Given the description of an element on the screen output the (x, y) to click on. 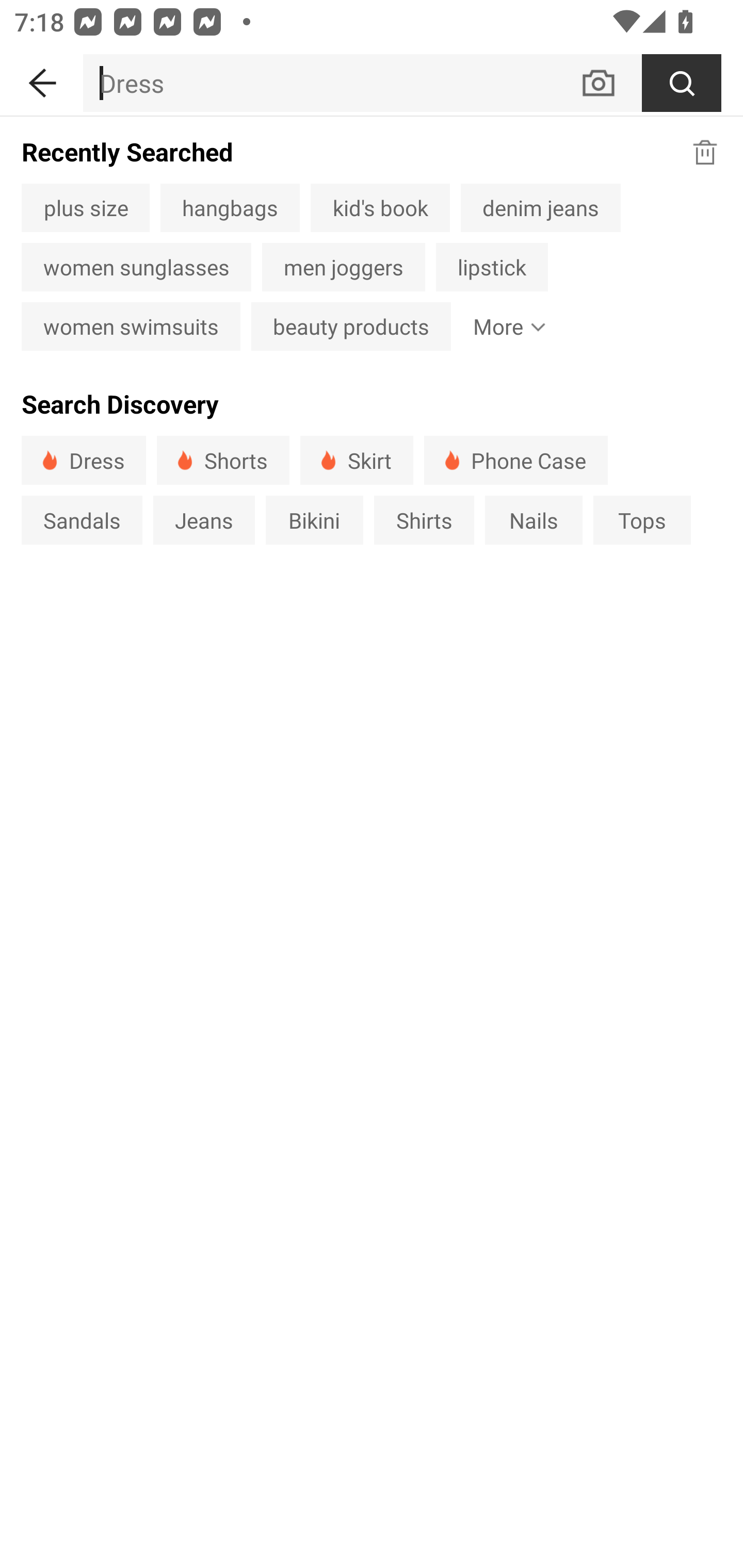
BACK (41, 79)
Dress (330, 82)
plus size (85, 207)
hangbags (229, 207)
kid's book (380, 207)
denim jeans (540, 207)
women sunglasses (136, 267)
men joggers (343, 267)
lipstick (492, 267)
women swimsuits (130, 326)
beauty products (351, 326)
More Show More (505, 326)
Dress (83, 459)
Shorts (222, 459)
Skirt (356, 459)
Phone Case (515, 459)
Sandals (81, 519)
Jeans (203, 519)
Bikini (314, 519)
Shirts (423, 519)
Nails (533, 519)
Tops (641, 519)
